Given the description of an element on the screen output the (x, y) to click on. 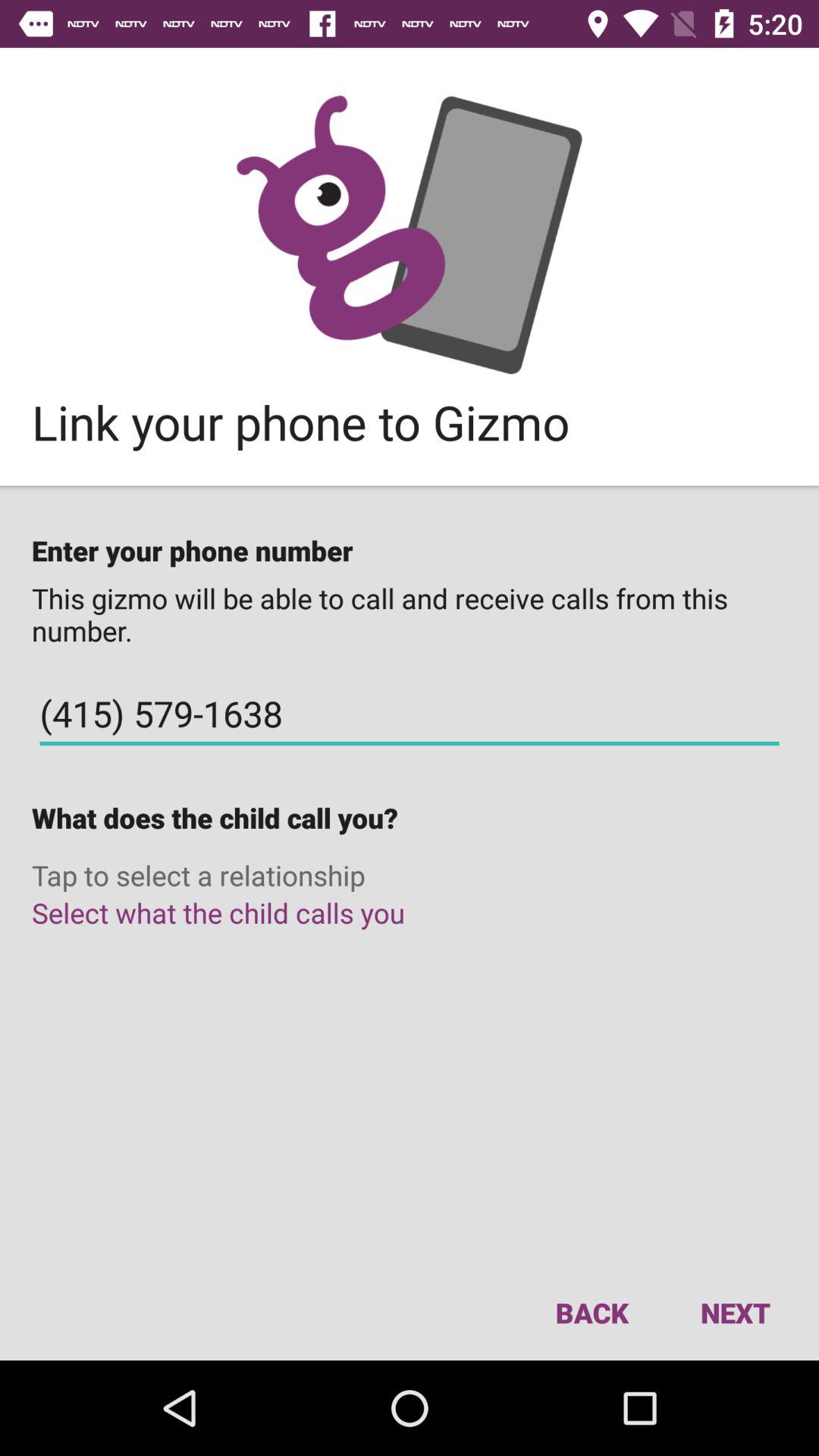
click the icon next to the next (591, 1312)
